Given the description of an element on the screen output the (x, y) to click on. 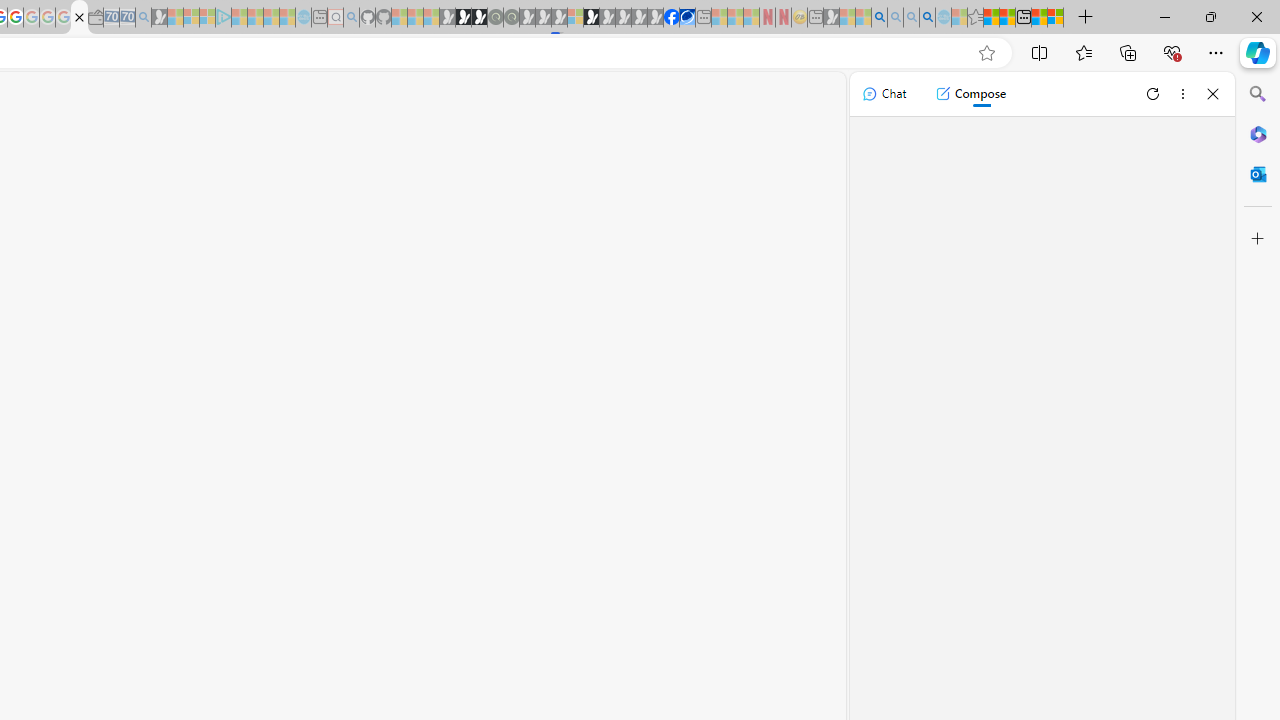
Compose (970, 93)
